Given the description of an element on the screen output the (x, y) to click on. 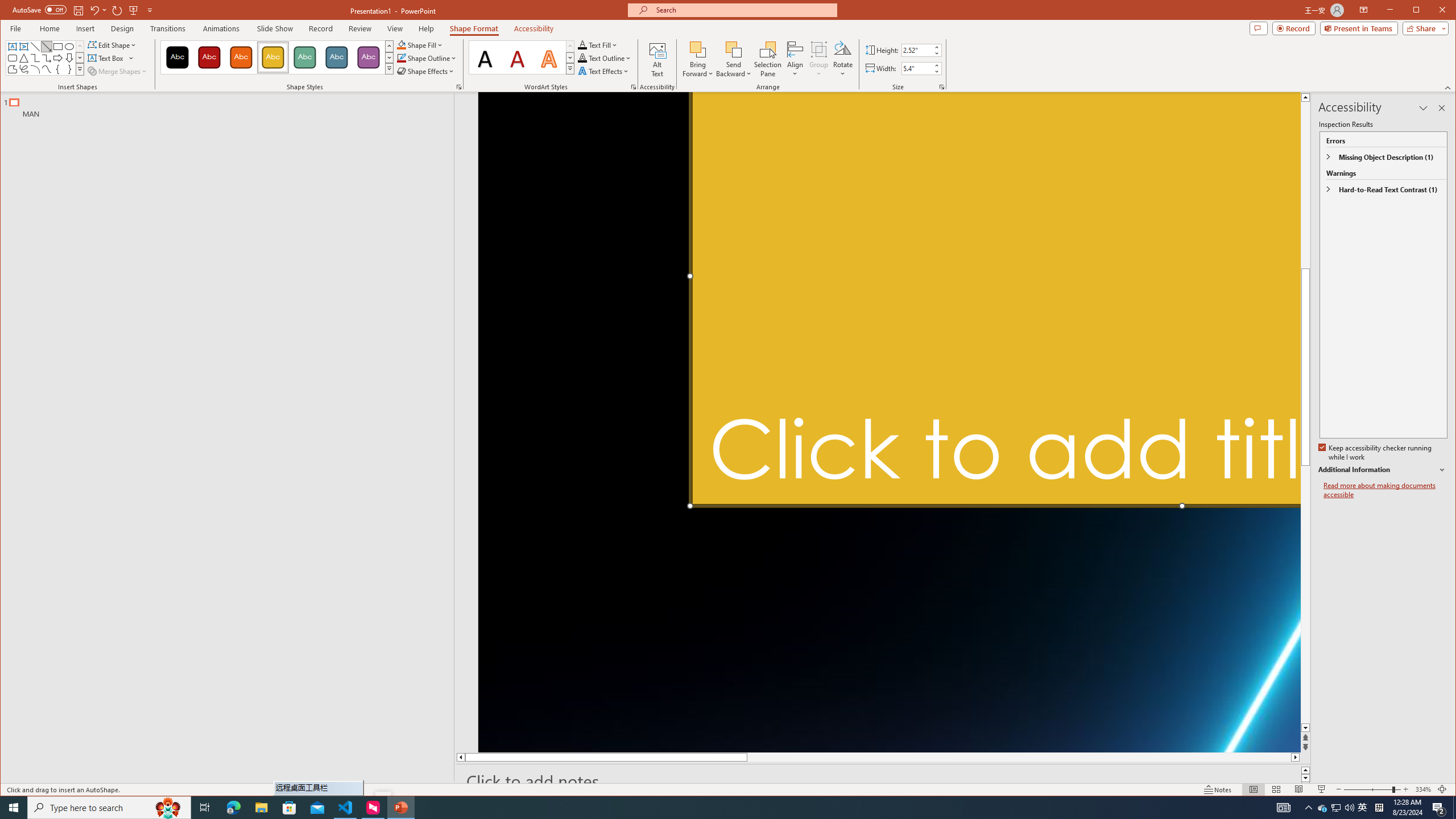
AutomationID: ShapesInsertGallery (45, 57)
Less (935, 70)
Draw Horizontal Text Box (106, 57)
Left Brace (58, 69)
Maximize (1432, 11)
Selection Pane... (767, 59)
